Given the description of an element on the screen output the (x, y) to click on. 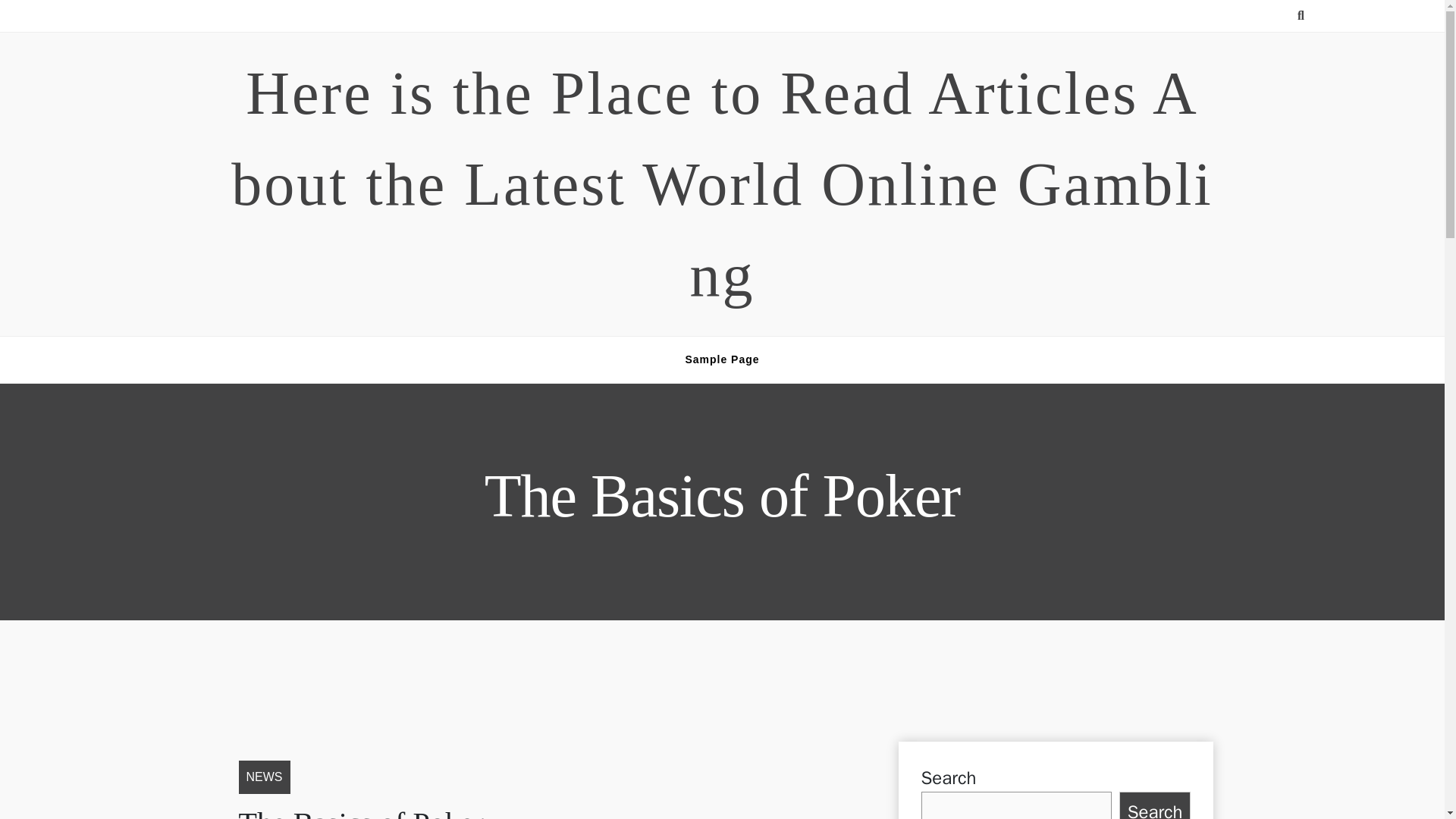
NEWS (263, 776)
Sample Page (721, 359)
Search (1155, 805)
